Given the description of an element on the screen output the (x, y) to click on. 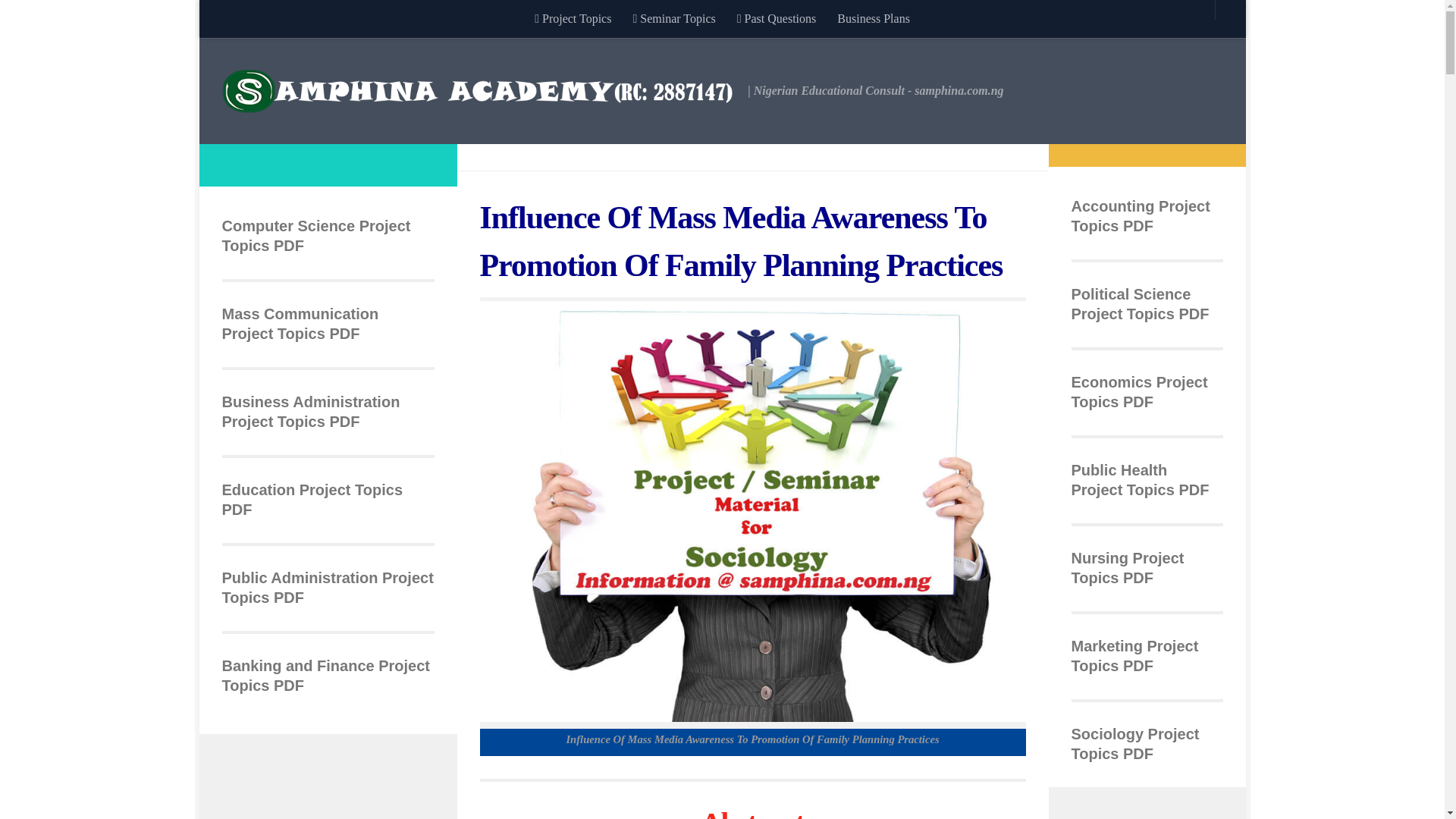
Political Science Project Topics PDF (1139, 303)
Computer Science Project Topics for Final Year Students (315, 235)
Marketing Project Topics PDF (1134, 656)
Banking and Finance Project Topics For Final Year Students (325, 675)
Nursing Project Topics PDF (1126, 567)
Computer Science Project Topics PDF (315, 235)
Mass Communication Project Topics For Final Year Students (299, 323)
Business Plans (873, 18)
Business Administration Project Topics PDF (309, 411)
